Given the description of an element on the screen output the (x, y) to click on. 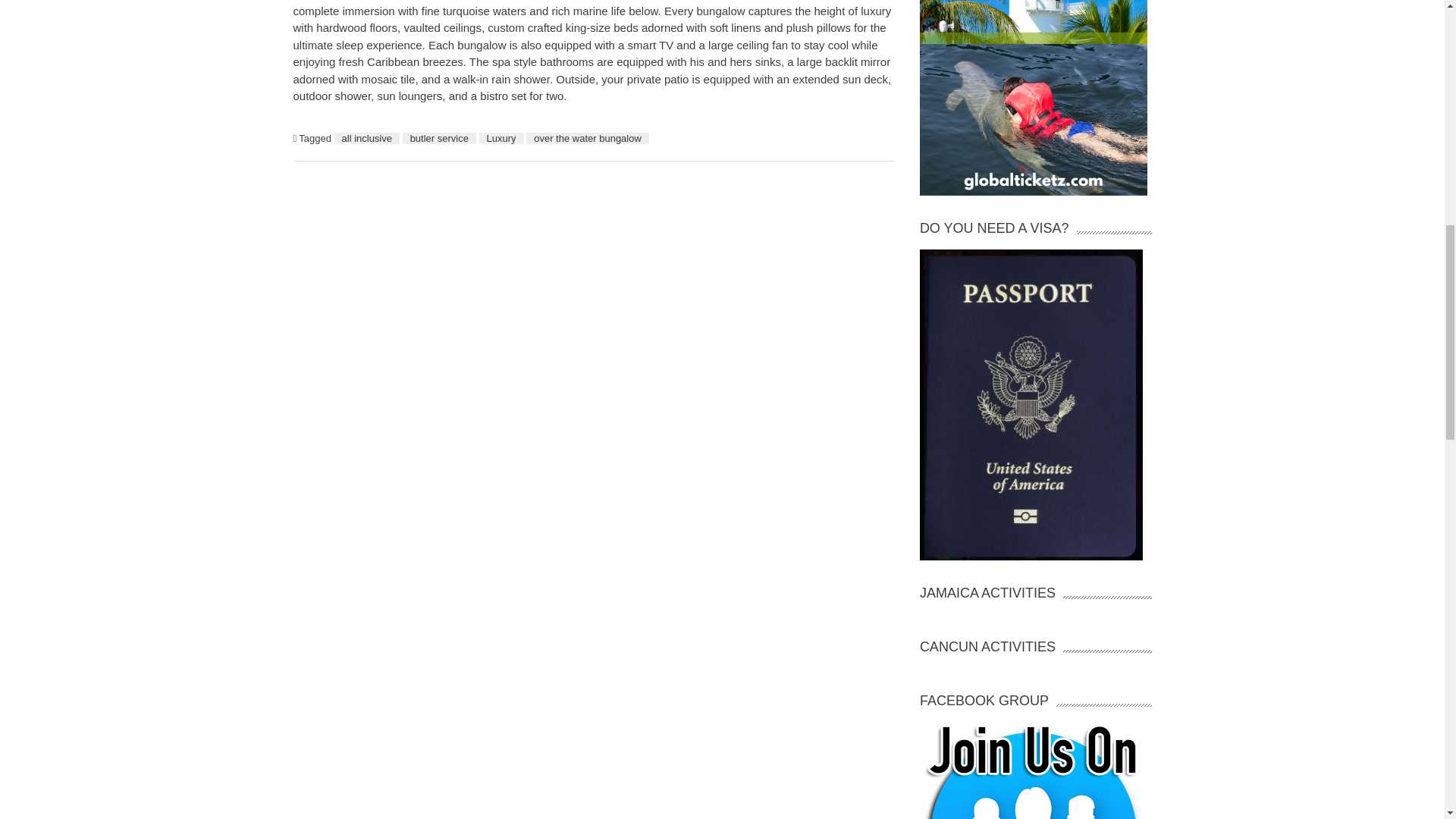
butler service (439, 138)
over the water bungalow (587, 138)
Luxury (501, 138)
all inclusive (366, 138)
